Given the description of an element on the screen output the (x, y) to click on. 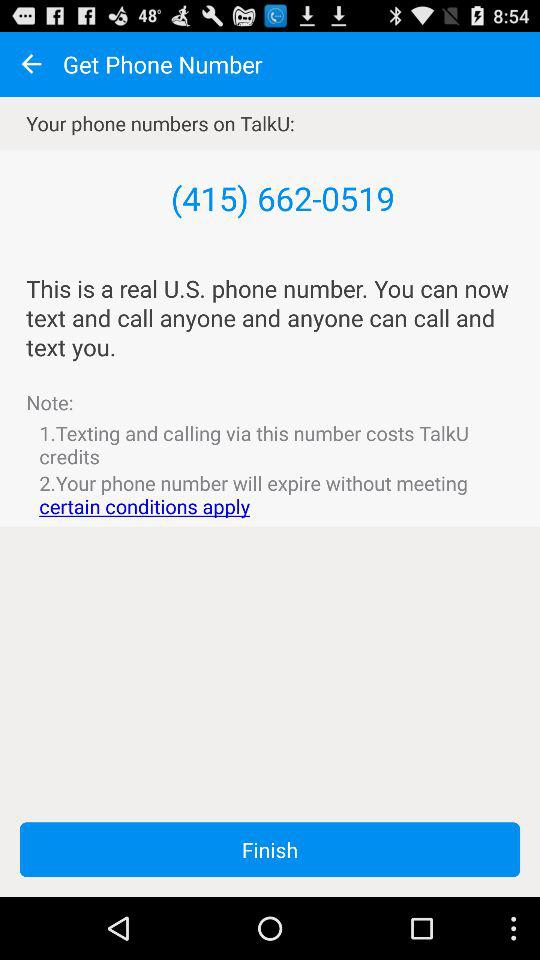
swipe to the 2 your phone item (269, 494)
